Given the description of an element on the screen output the (x, y) to click on. 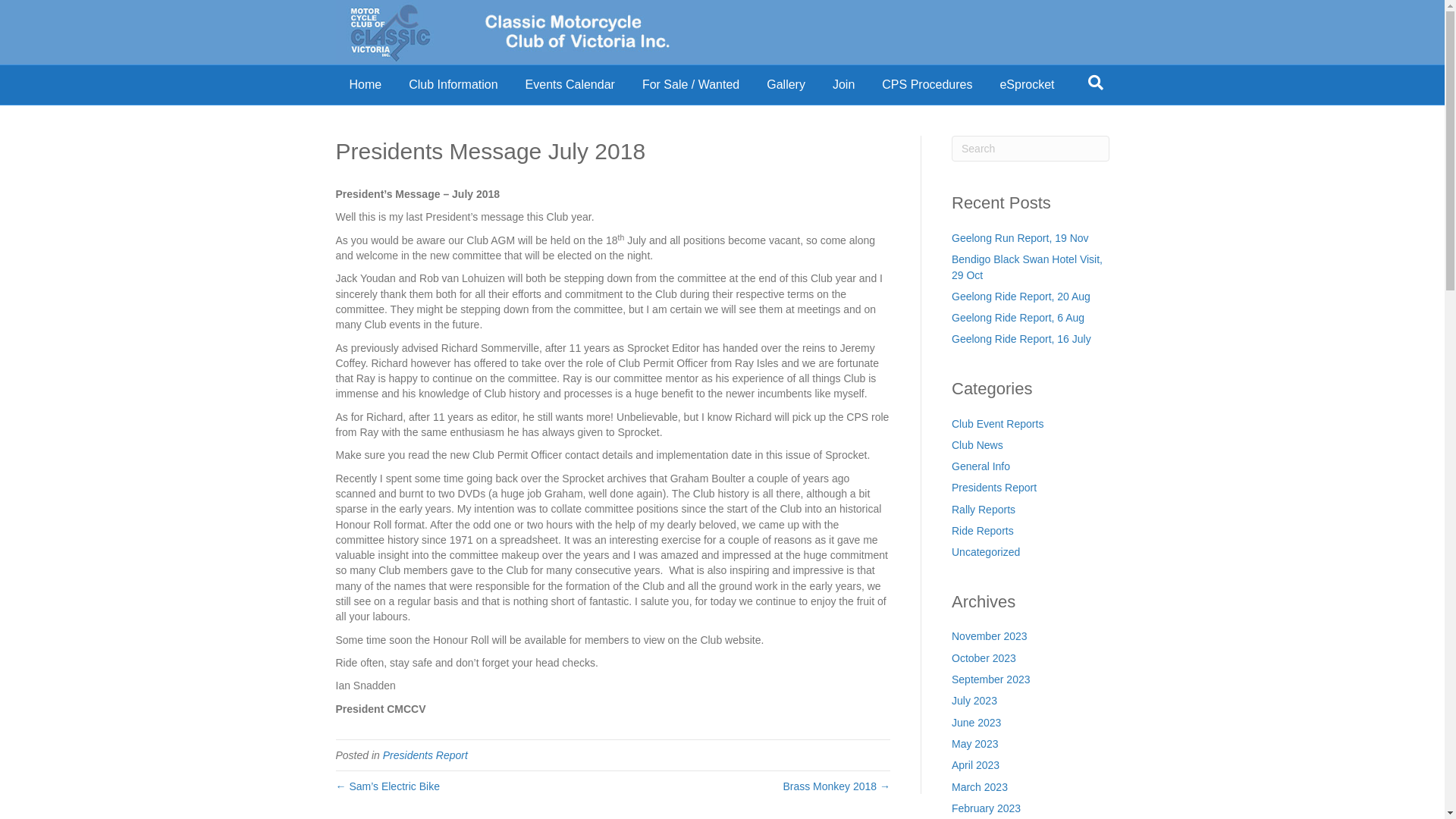
March 2023 Element type: text (979, 787)
May 2023 Element type: text (974, 743)
Geelong Ride Report, 6 Aug Element type: text (1017, 317)
June 2023 Element type: text (976, 722)
For Sale / Wanted Element type: text (690, 84)
July 2023 Element type: text (974, 700)
Home Element type: text (365, 84)
Gallery Element type: text (786, 84)
Bendigo Black Swan Hotel Visit, 29 Oct Element type: text (1026, 266)
February 2023 Element type: text (985, 808)
Geelong Ride Report, 20 Aug Element type: text (1020, 296)
Club Information Element type: text (453, 84)
Events Calendar Element type: text (569, 84)
November 2023 Element type: text (989, 636)
Rally Reports Element type: text (983, 509)
September 2023 Element type: text (990, 679)
Presidents Report Element type: text (424, 755)
Club Event Reports Element type: text (997, 423)
CPS Procedures Element type: text (926, 84)
Uncategorized Element type: text (985, 552)
Ride Reports Element type: text (982, 530)
Geelong Run Report, 19 Nov Element type: text (1019, 238)
eSprocket Element type: text (1026, 84)
Presidents Report Element type: text (993, 487)
Type and press Enter to search. Element type: hover (1030, 148)
April 2023 Element type: text (975, 765)
Club News Element type: text (977, 445)
October 2023 Element type: text (983, 658)
Join Element type: text (843, 84)
Geelong Ride Report, 16 July Element type: text (1021, 338)
General Info Element type: text (980, 466)
